Given the description of an element on the screen output the (x, y) to click on. 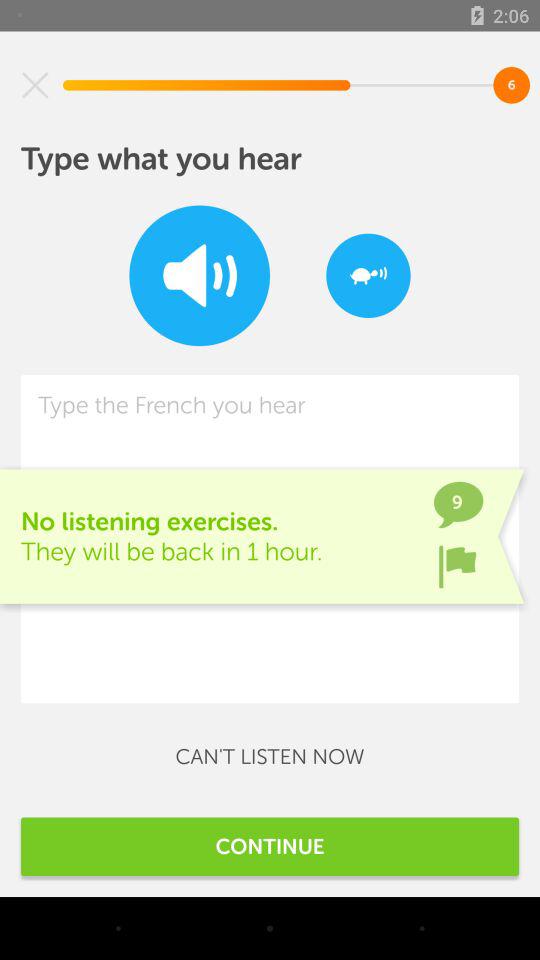
turn on the continue item (270, 846)
